Given the description of an element on the screen output the (x, y) to click on. 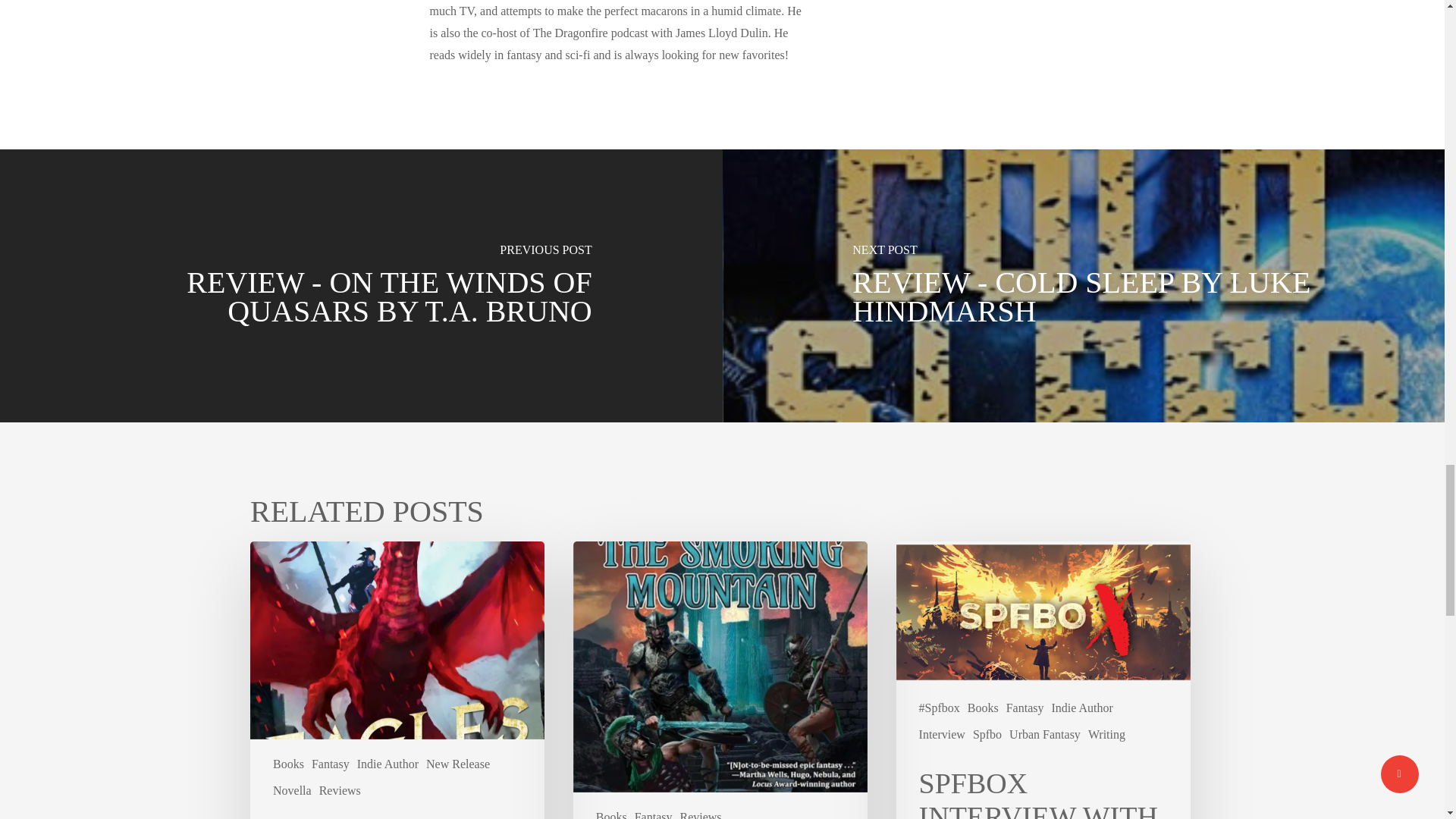
Reviews (339, 791)
Books (288, 764)
Books (611, 813)
Novella (292, 791)
Review: Eagles Fall by L.R. Schulz (397, 680)
New Release (457, 764)
Fantasy (330, 764)
Fantasy (653, 813)
Indie Author (387, 764)
